Given the description of an element on the screen output the (x, y) to click on. 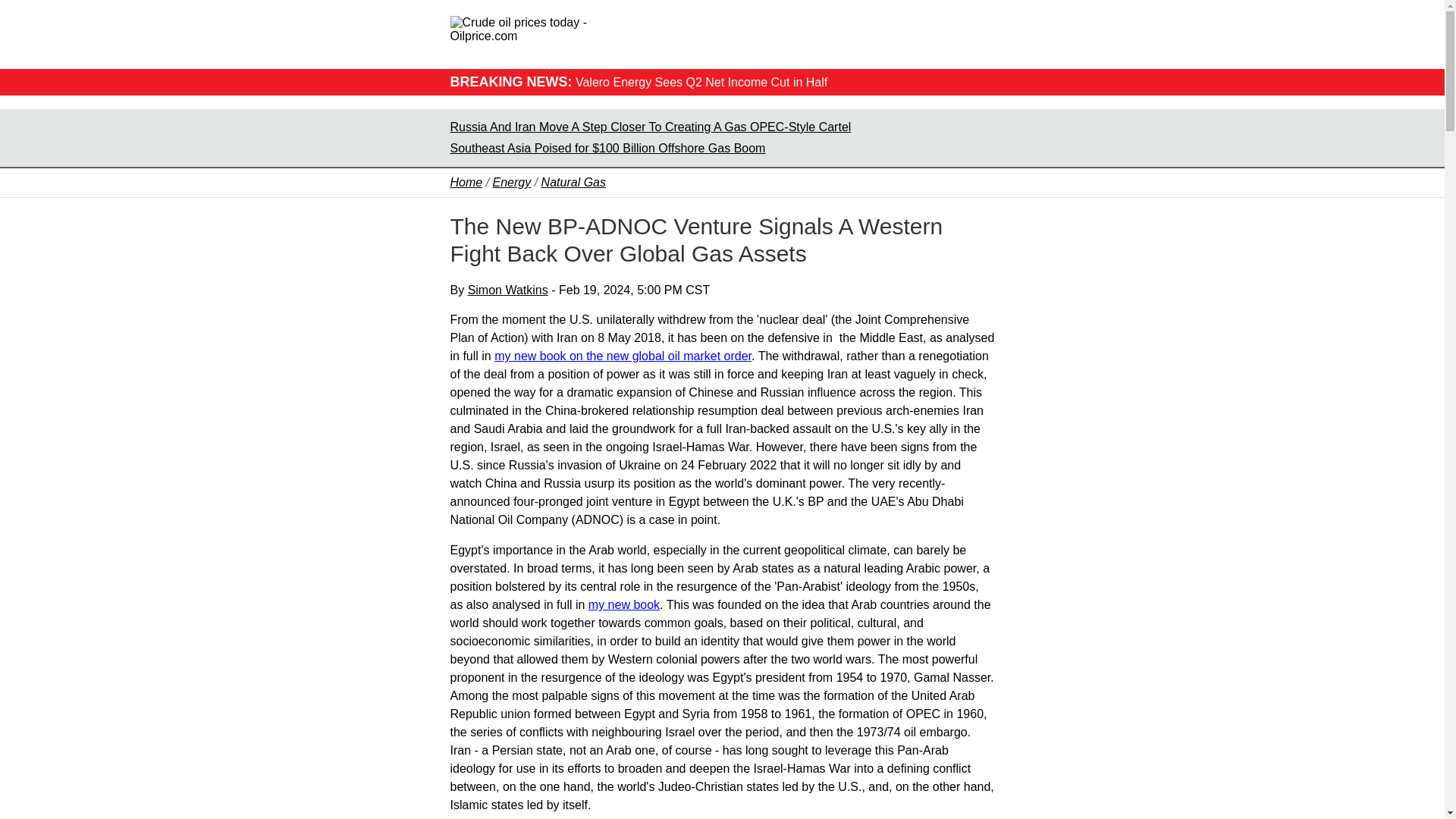
Valero Energy Sees Q2 Net Income Cut in Half (701, 82)
my new book (623, 604)
Natural Gas (573, 182)
Energy (512, 182)
my new book on the new global oil market order (623, 355)
Simon Watkins (507, 289)
Home (466, 182)
